Given the description of an element on the screen output the (x, y) to click on. 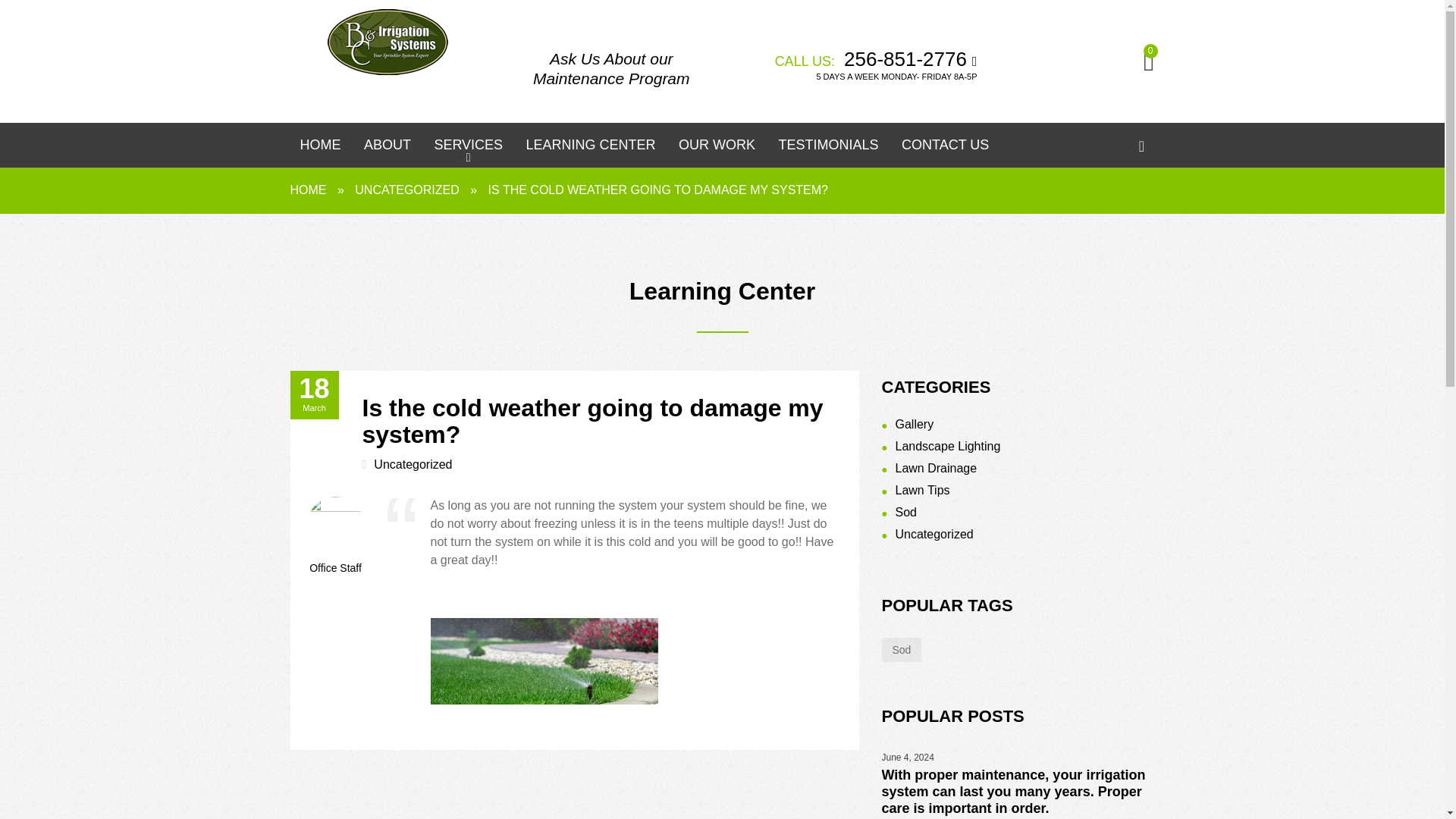
Landscape Lighting (947, 445)
Home (319, 148)
SERVICES (467, 148)
Contact Us (944, 148)
Uncategorized (933, 533)
CONTACT US (944, 148)
Lawn Tips (922, 490)
Uncategorized (412, 463)
Services (467, 148)
